Given the description of an element on the screen output the (x, y) to click on. 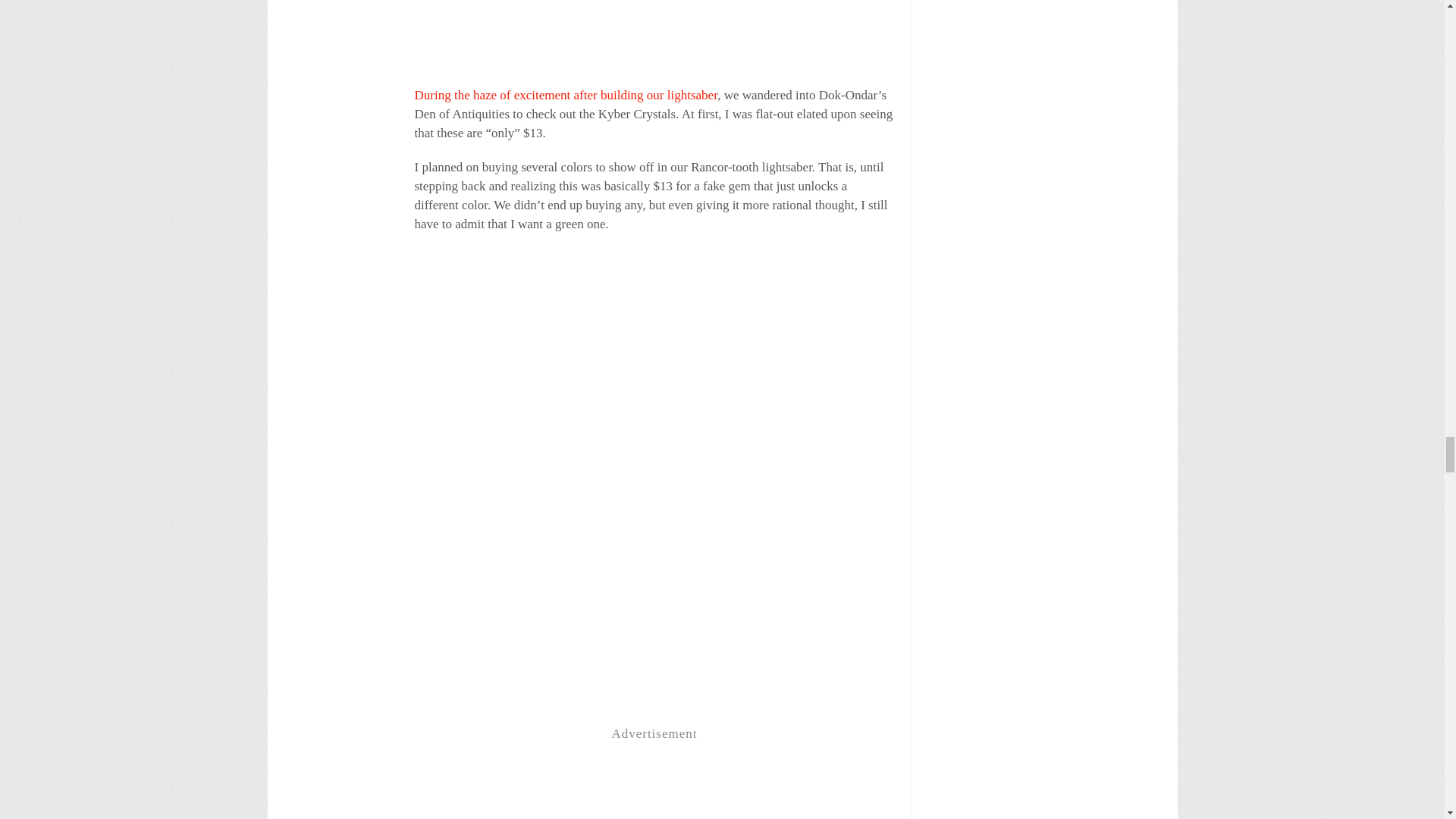
During the haze of excitement after building our lightsaber (565, 94)
